Given the description of an element on the screen output the (x, y) to click on. 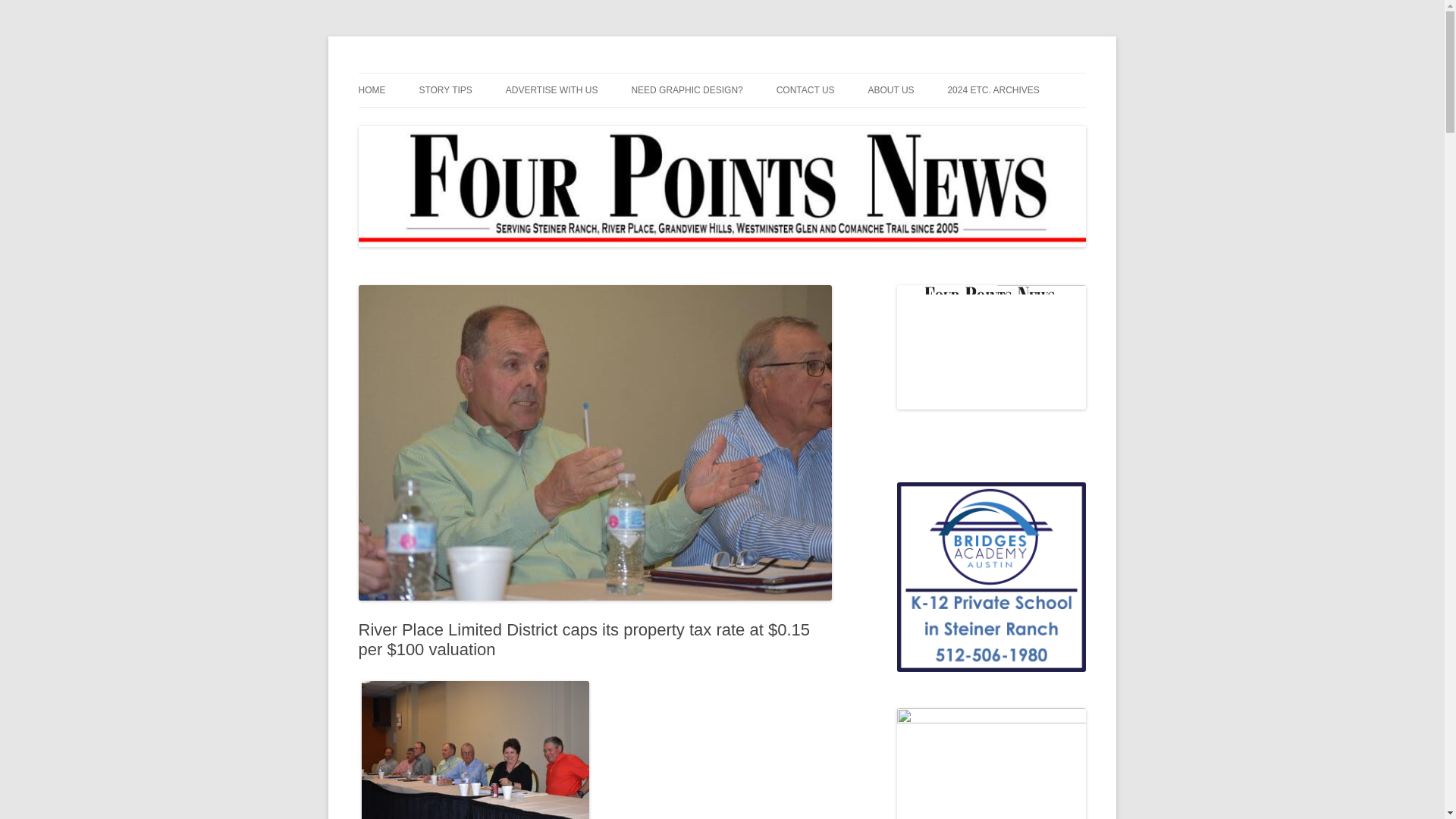
ADVERTISE WITH US (551, 90)
NEED GRAPHIC DESIGN? (686, 90)
CONTACT US (805, 90)
2024 ETC. ARCHIVES (993, 90)
STORY TIPS (445, 90)
ABOUT US (890, 90)
